Given the description of an element on the screen output the (x, y) to click on. 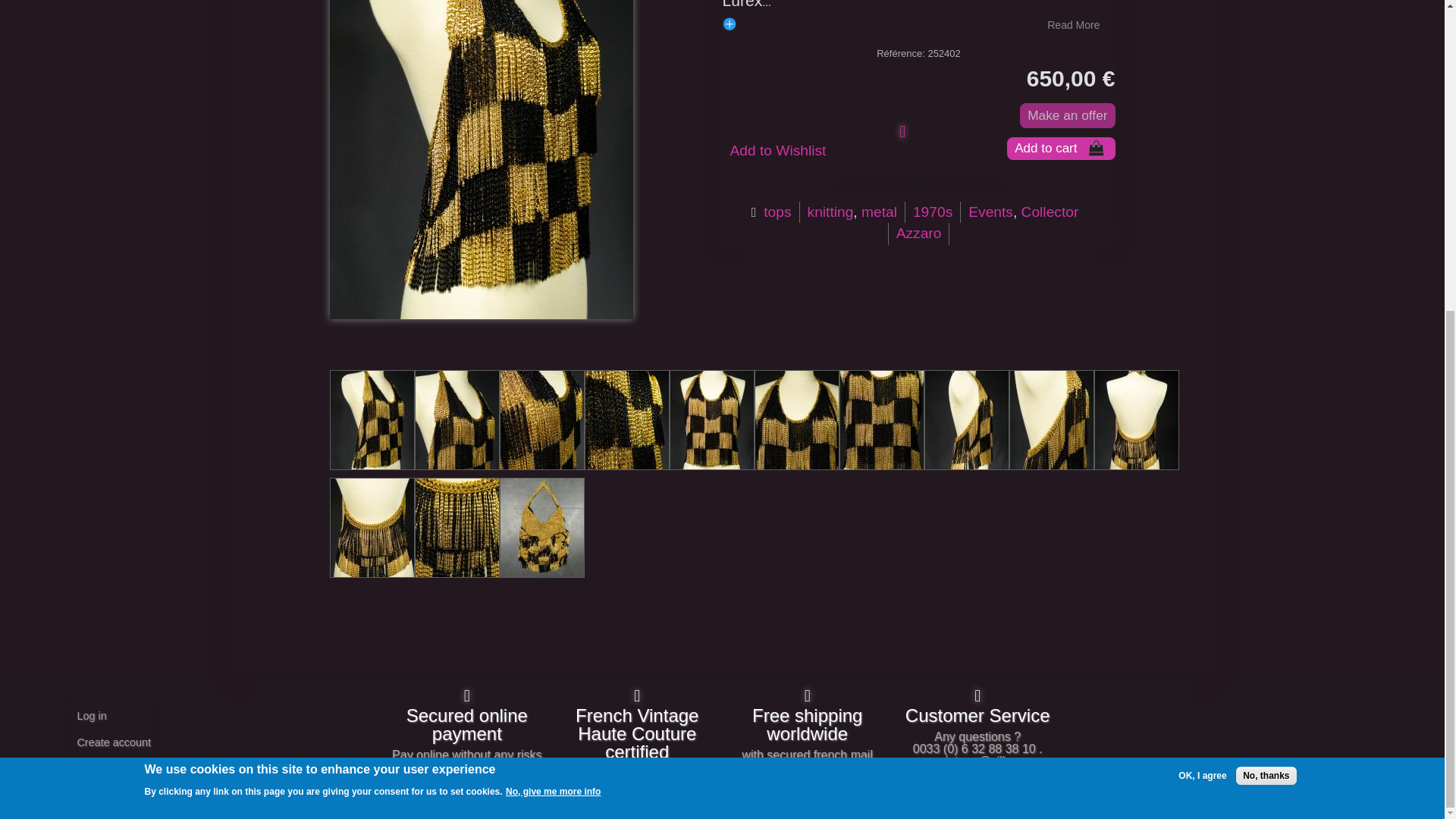
Add to cart (1061, 148)
